Given the description of an element on the screen output the (x, y) to click on. 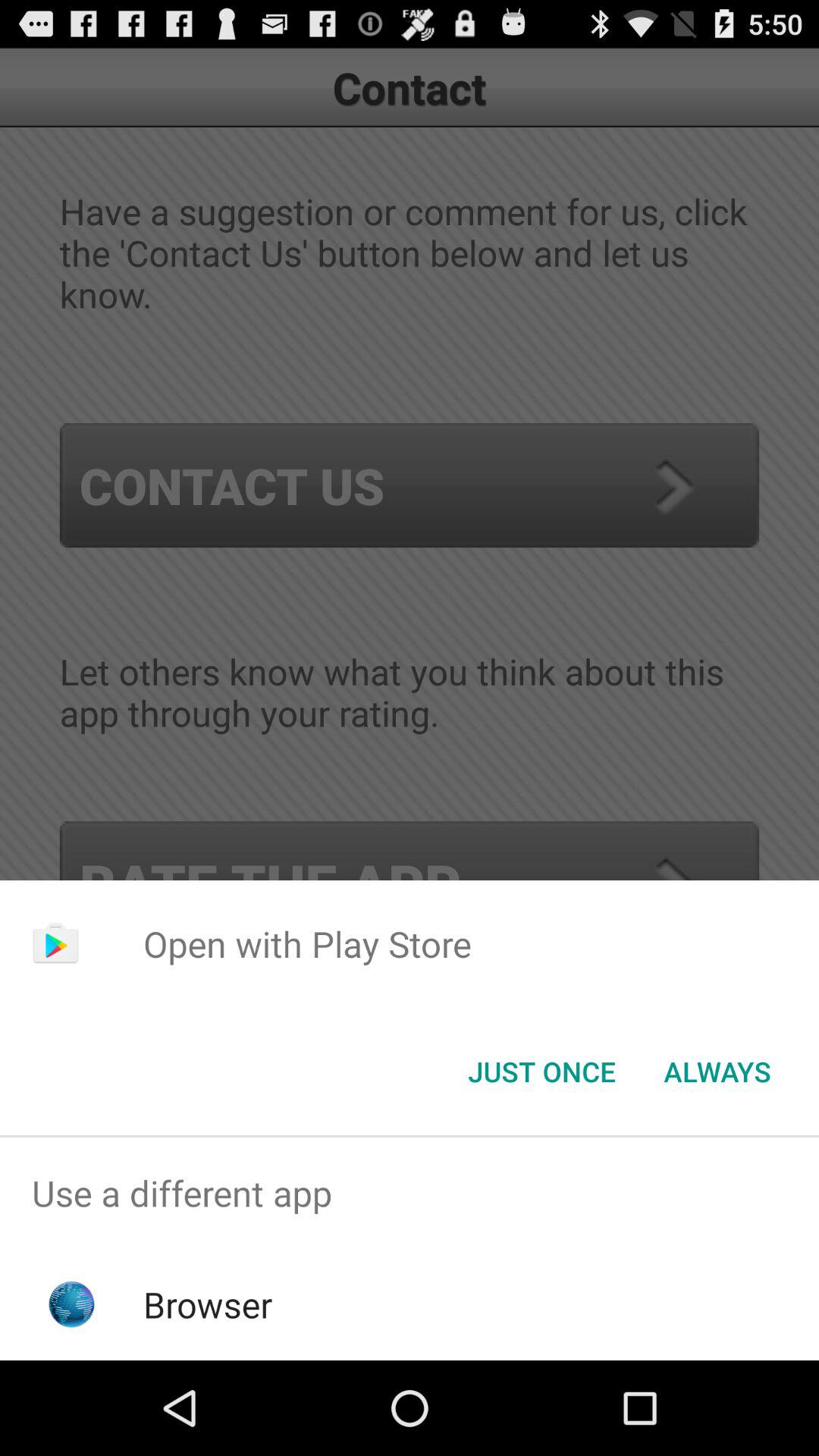
jump until always item (717, 1071)
